Given the description of an element on the screen output the (x, y) to click on. 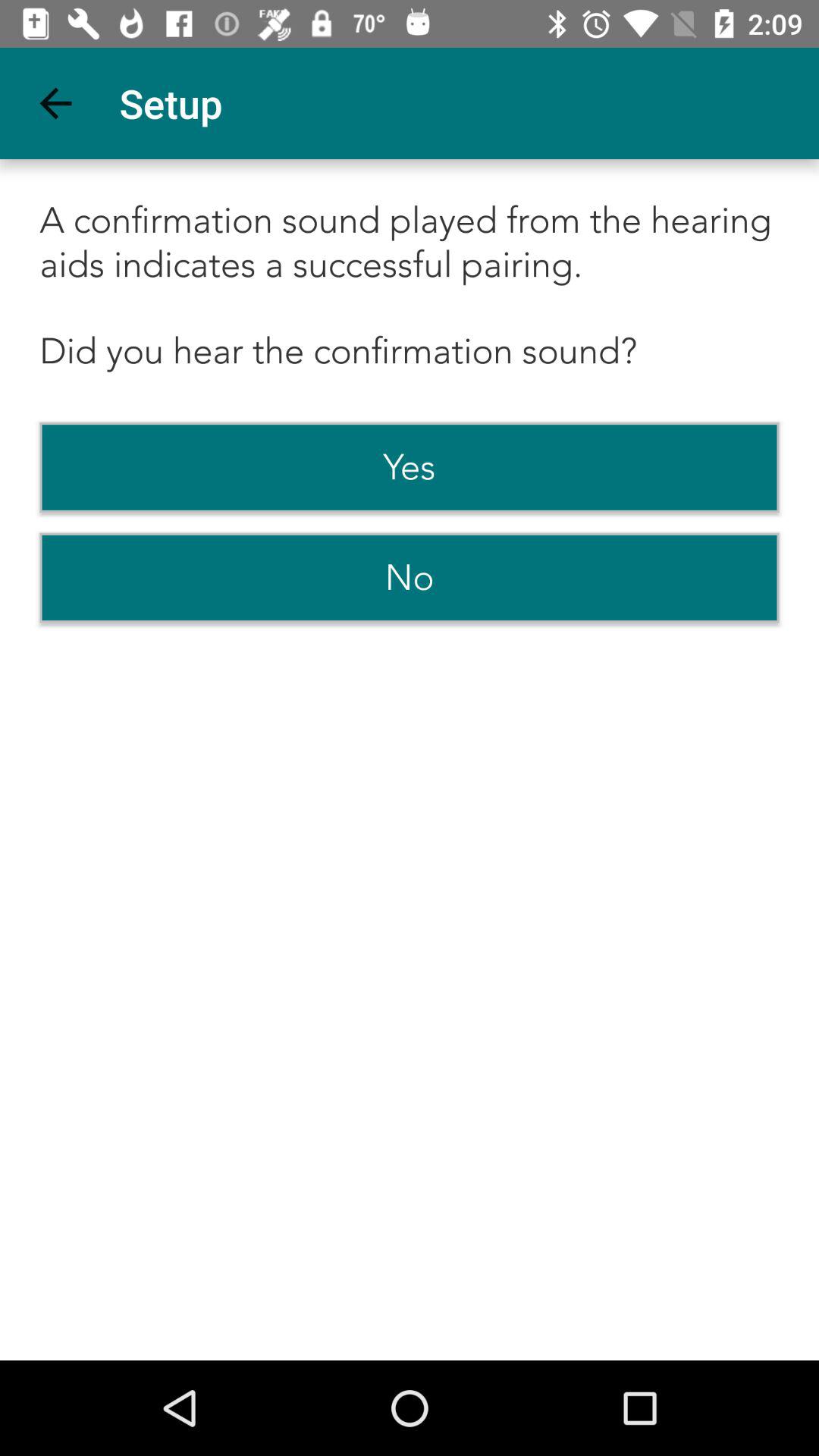
select the item below yes icon (409, 577)
